Given the description of an element on the screen output the (x, y) to click on. 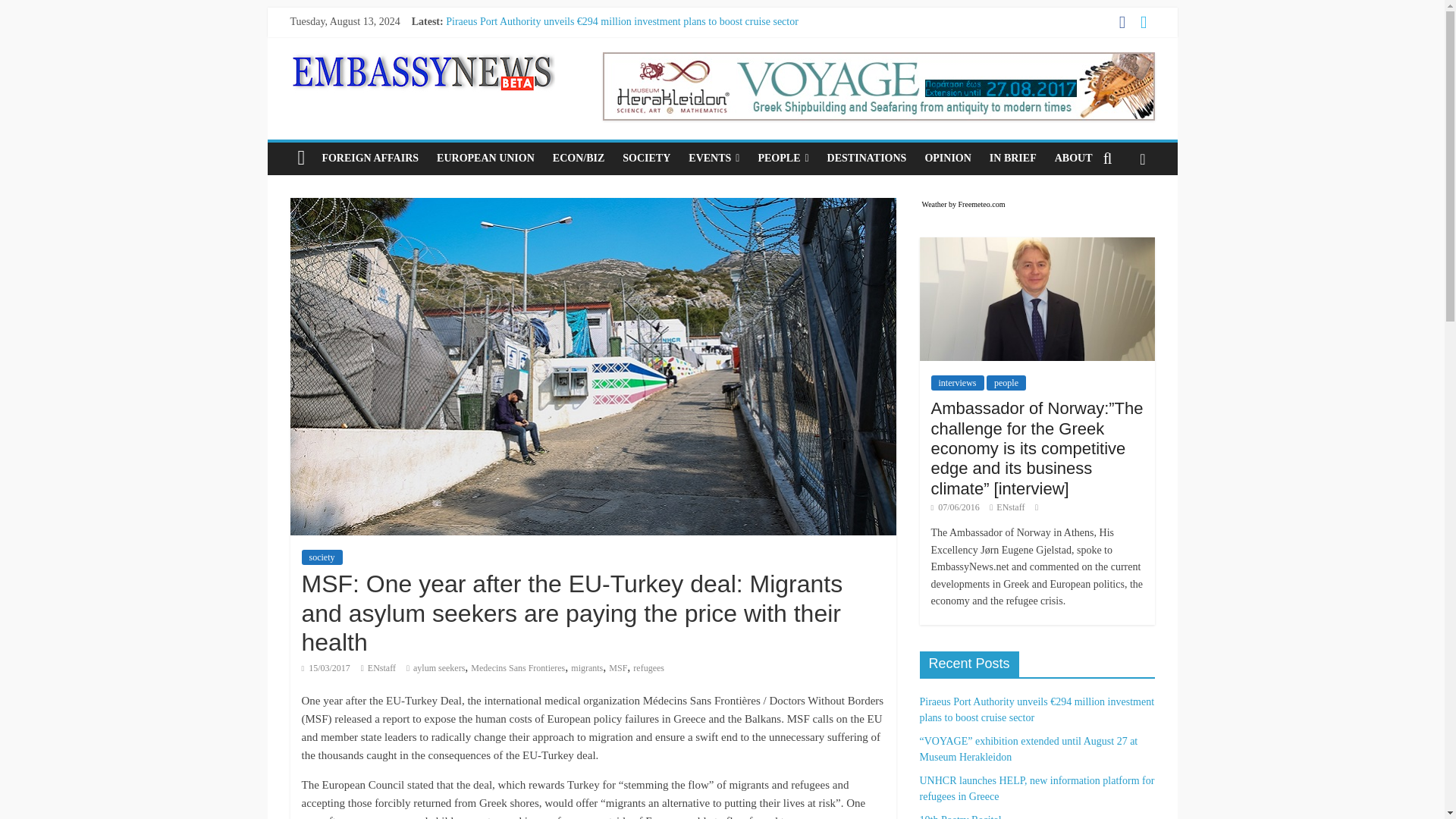
EVENTS (713, 158)
EUROPEAN UNION (485, 158)
society (321, 557)
12:37 pm (325, 667)
FOREIGN AFFAIRS (370, 158)
10th Poetry Recital (486, 71)
MSF (617, 667)
migrants (586, 667)
